Given the description of an element on the screen output the (x, y) to click on. 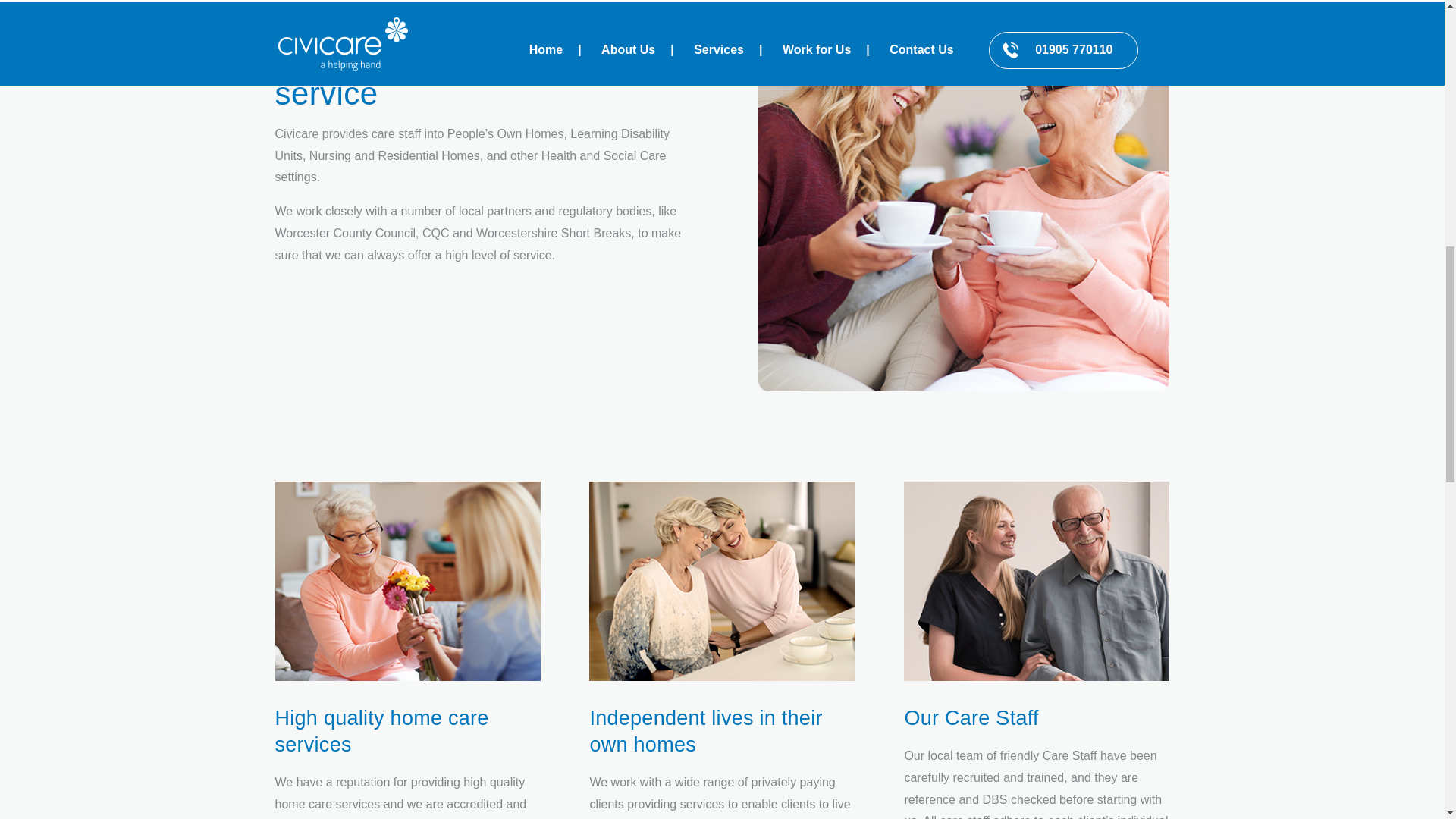
about4 (721, 580)
about3 (407, 580)
about5 (1036, 580)
